Given the description of an element on the screen output the (x, y) to click on. 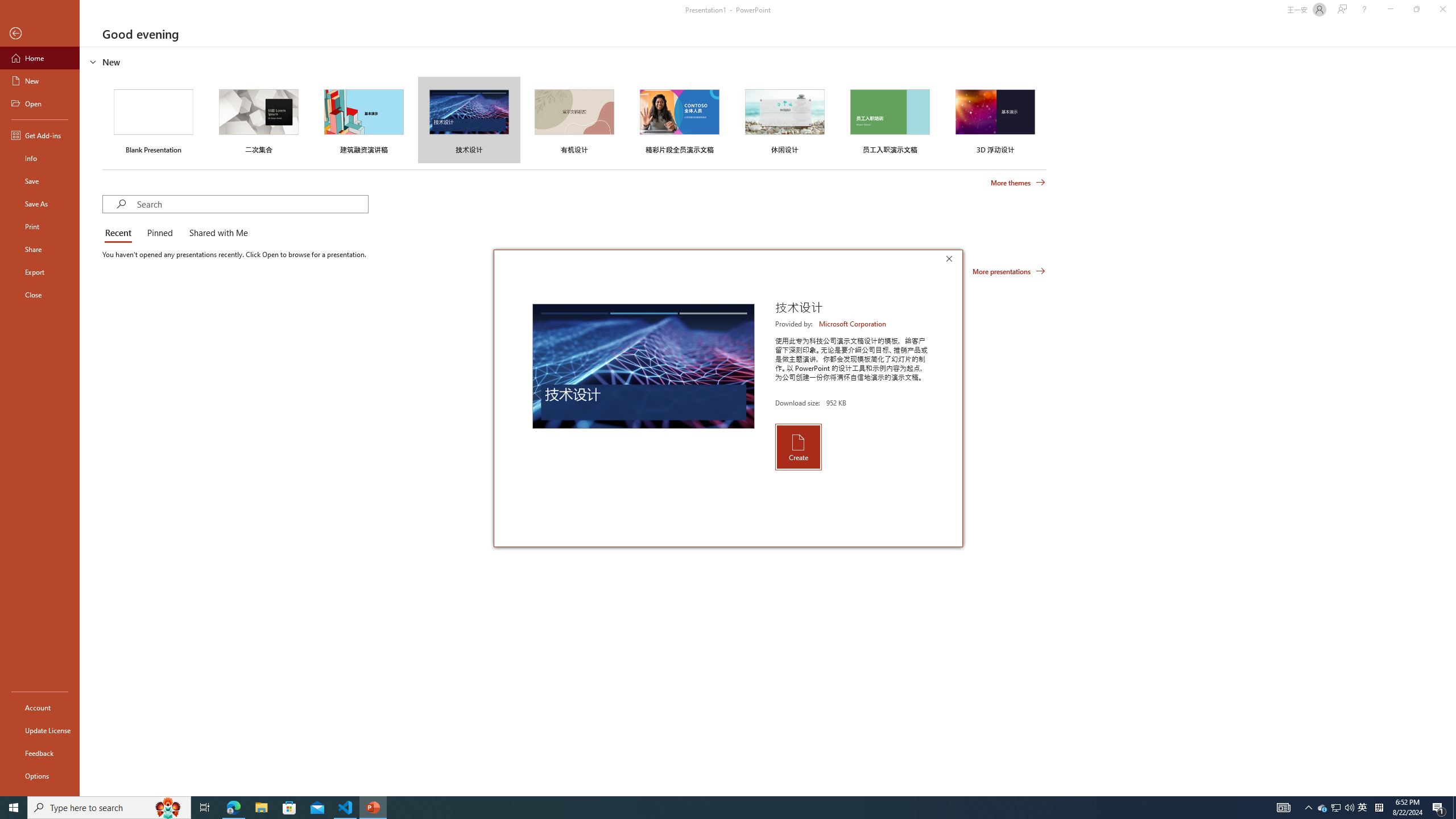
Pinned (159, 233)
Blank Presentation (153, 119)
Options (1322, 807)
Microsoft Corporation (40, 775)
